Given the description of an element on the screen output the (x, y) to click on. 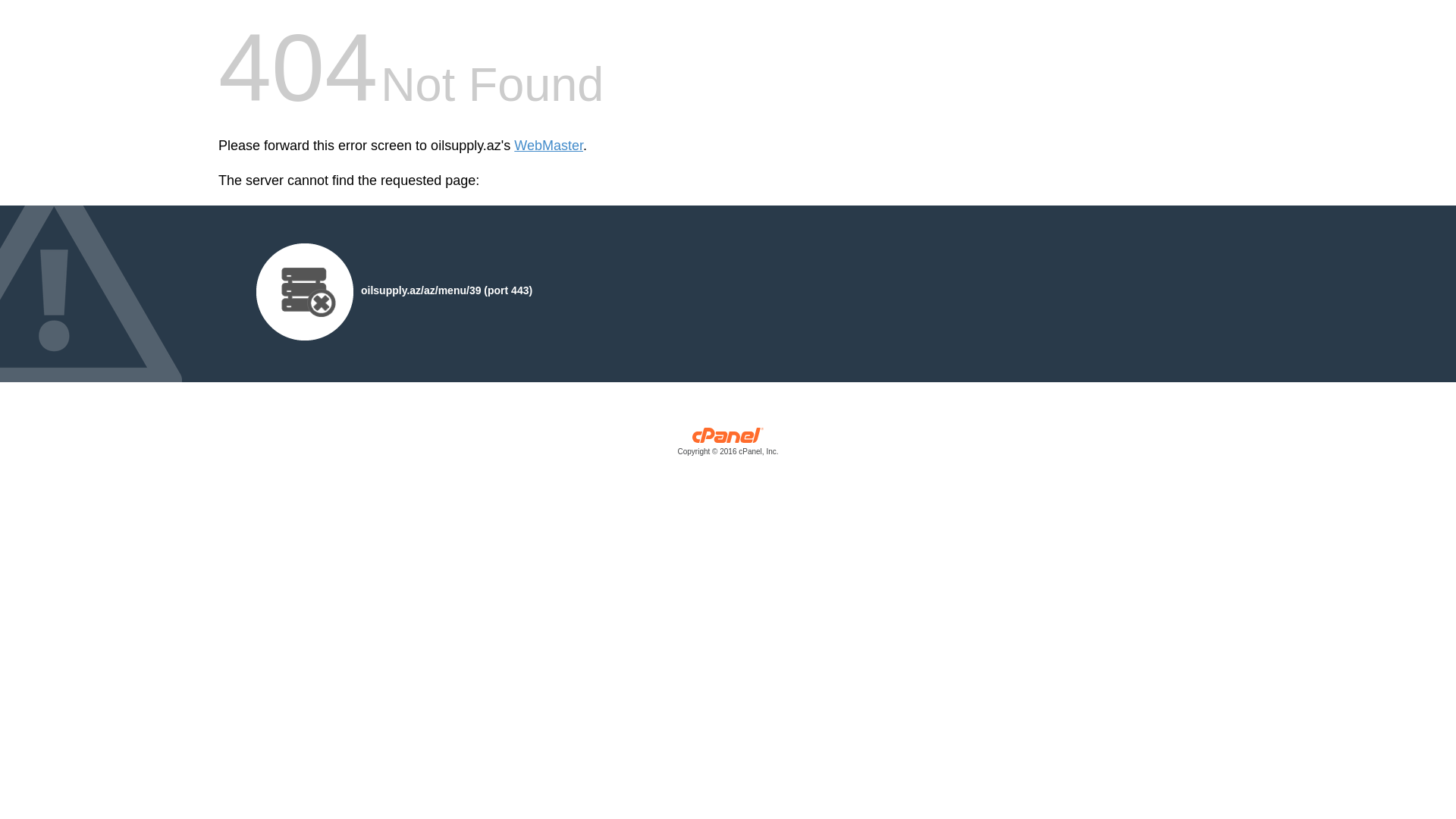
WebMaster Element type: text (548, 145)
